Given the description of an element on the screen output the (x, y) to click on. 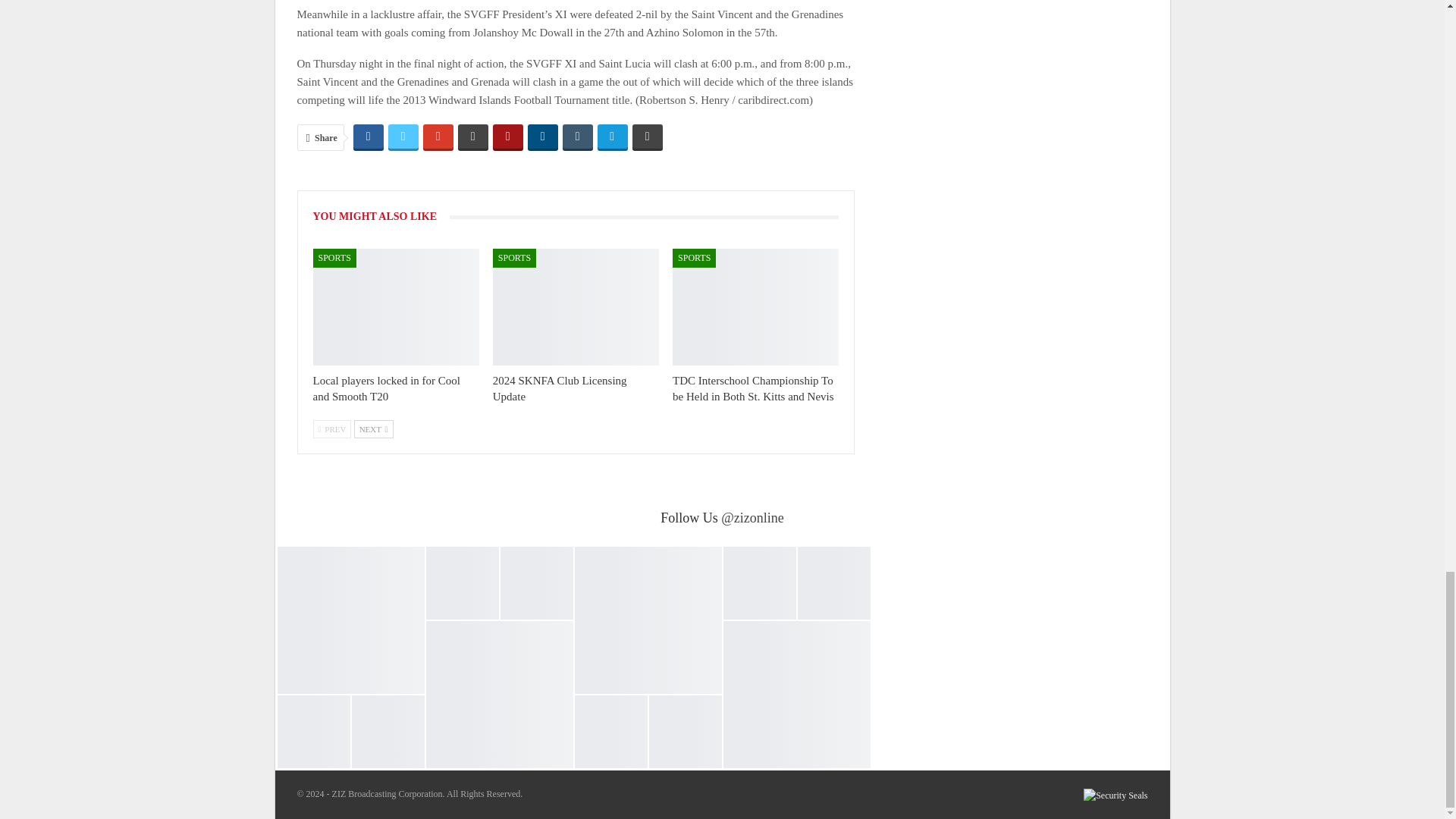
Previous (331, 429)
2024 SKNFA Club Licensing Update (560, 388)
2024 SKNFA Club Licensing Update (576, 306)
Local players locked in for Cool and Smooth T20 (396, 306)
Local players locked in for Cool and Smooth T20 (386, 388)
Next (373, 429)
